Given the description of an element on the screen output the (x, y) to click on. 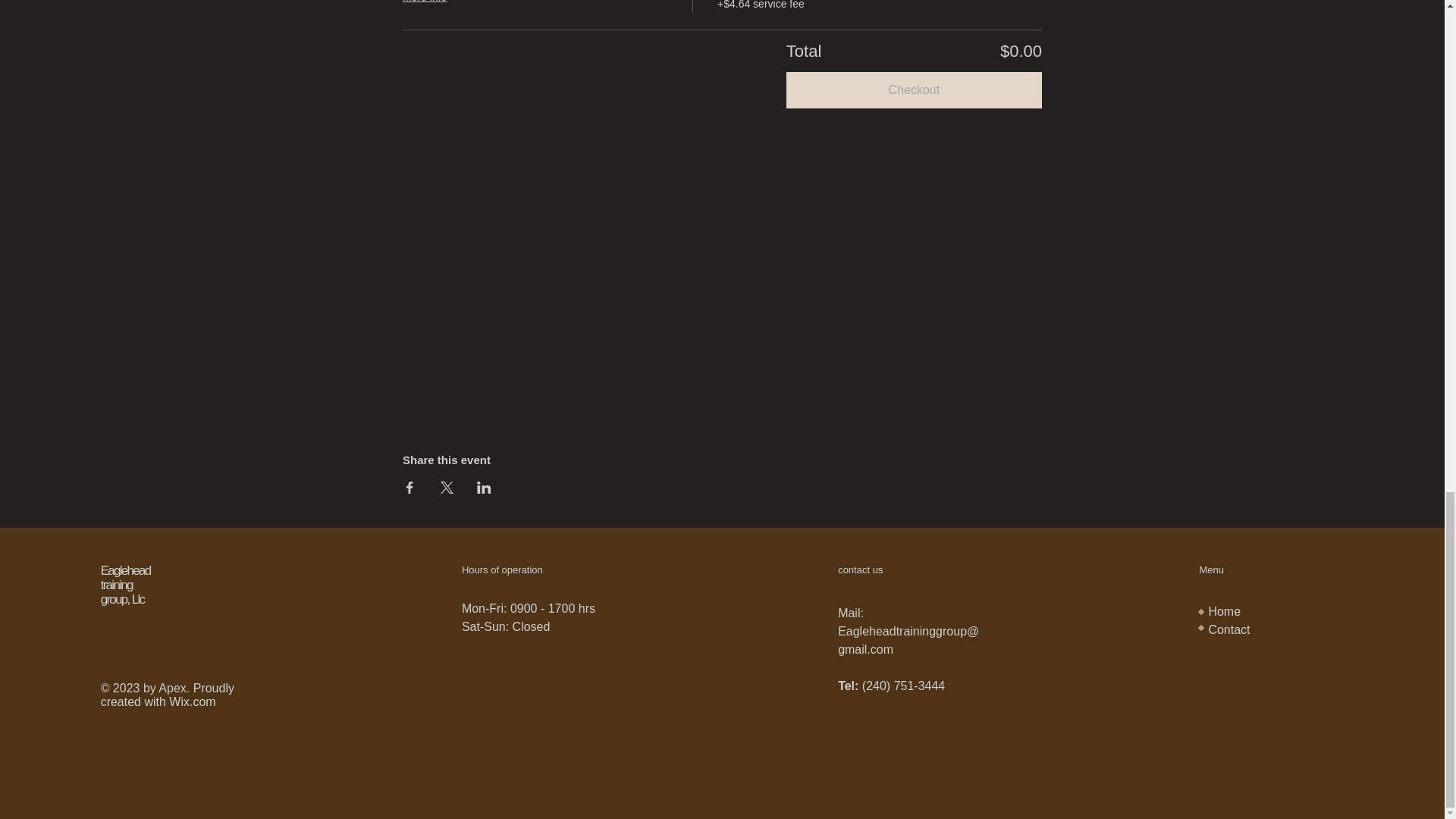
Checkout (914, 90)
Home (1224, 611)
Contact (1228, 629)
Wix.com (191, 701)
Eaglehead (125, 570)
More info (434, 4)
